Given the description of an element on the screen output the (x, y) to click on. 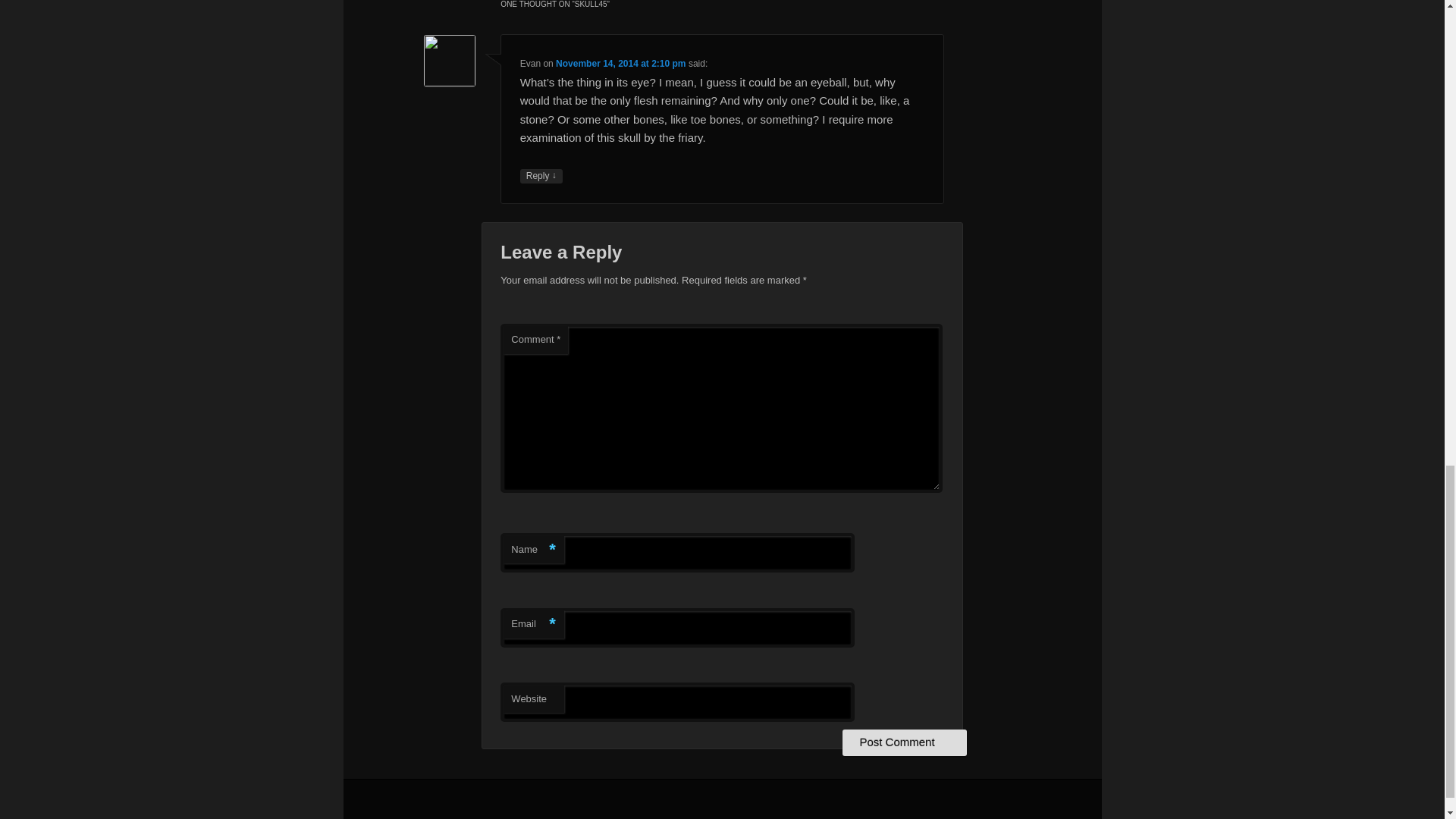
Post Comment (904, 742)
Post Comment (904, 742)
November 14, 2014 at 2:10 pm (620, 63)
